Given the description of an element on the screen output the (x, y) to click on. 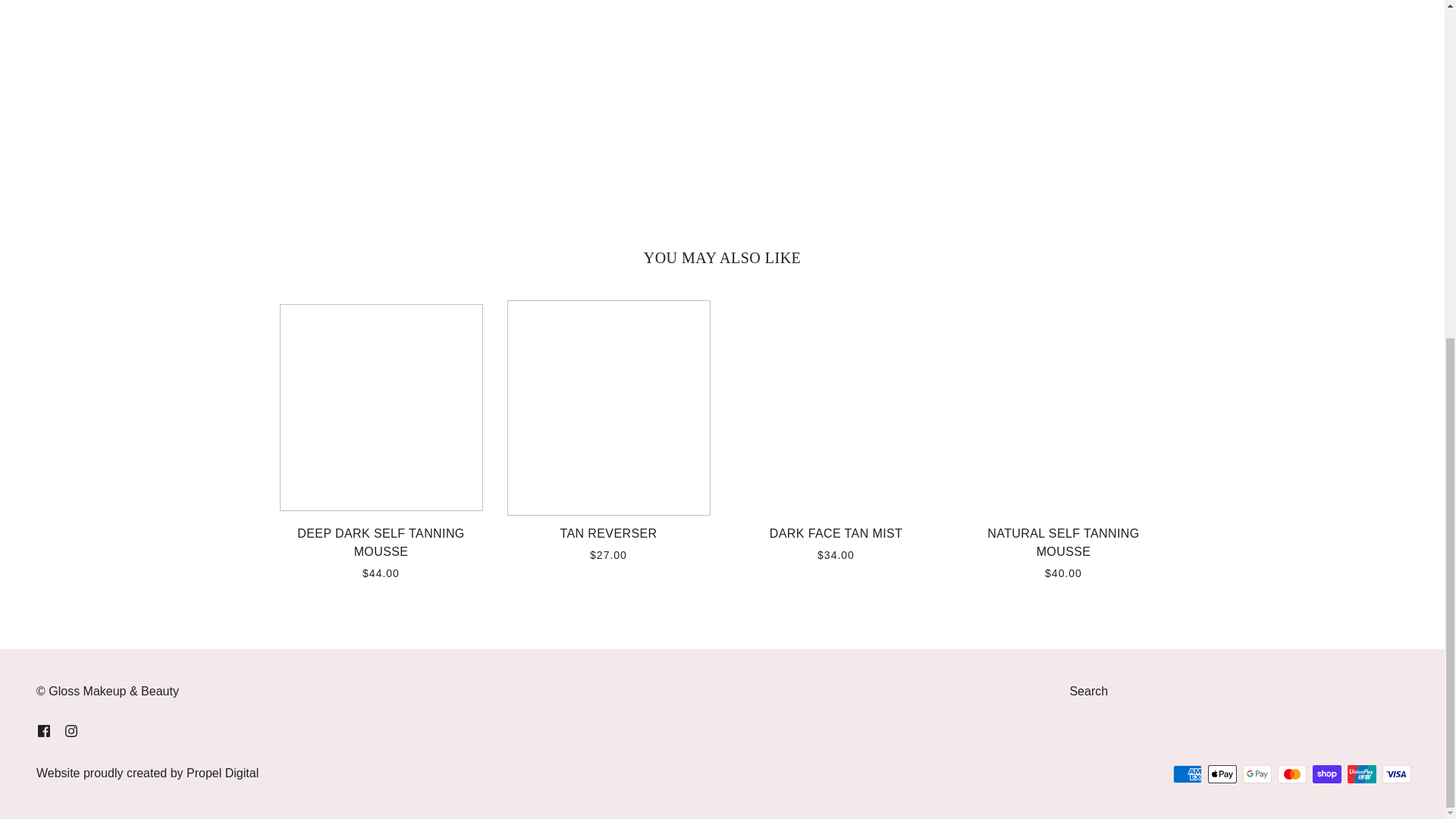
Google Pay (1257, 773)
Search (1088, 690)
Apple Pay (1222, 773)
Mastercard (1292, 773)
Shop Pay (1326, 773)
Union Pay (1361, 773)
American Express (1187, 773)
Visa (1395, 773)
